Given the description of an element on the screen output the (x, y) to click on. 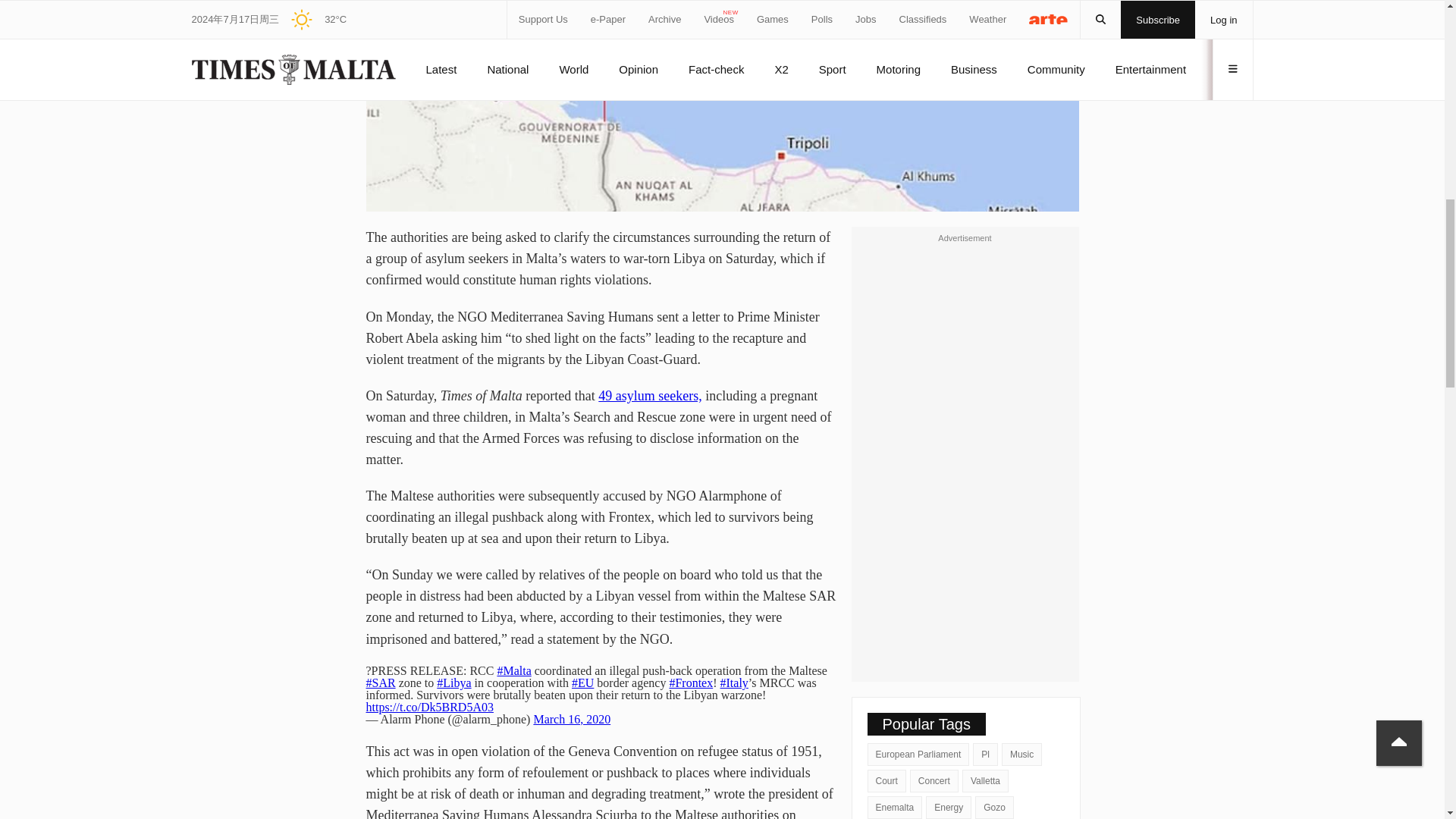
3rd party ad content (964, 453)
49 asylum seekers, (649, 395)
